Given the description of an element on the screen output the (x, y) to click on. 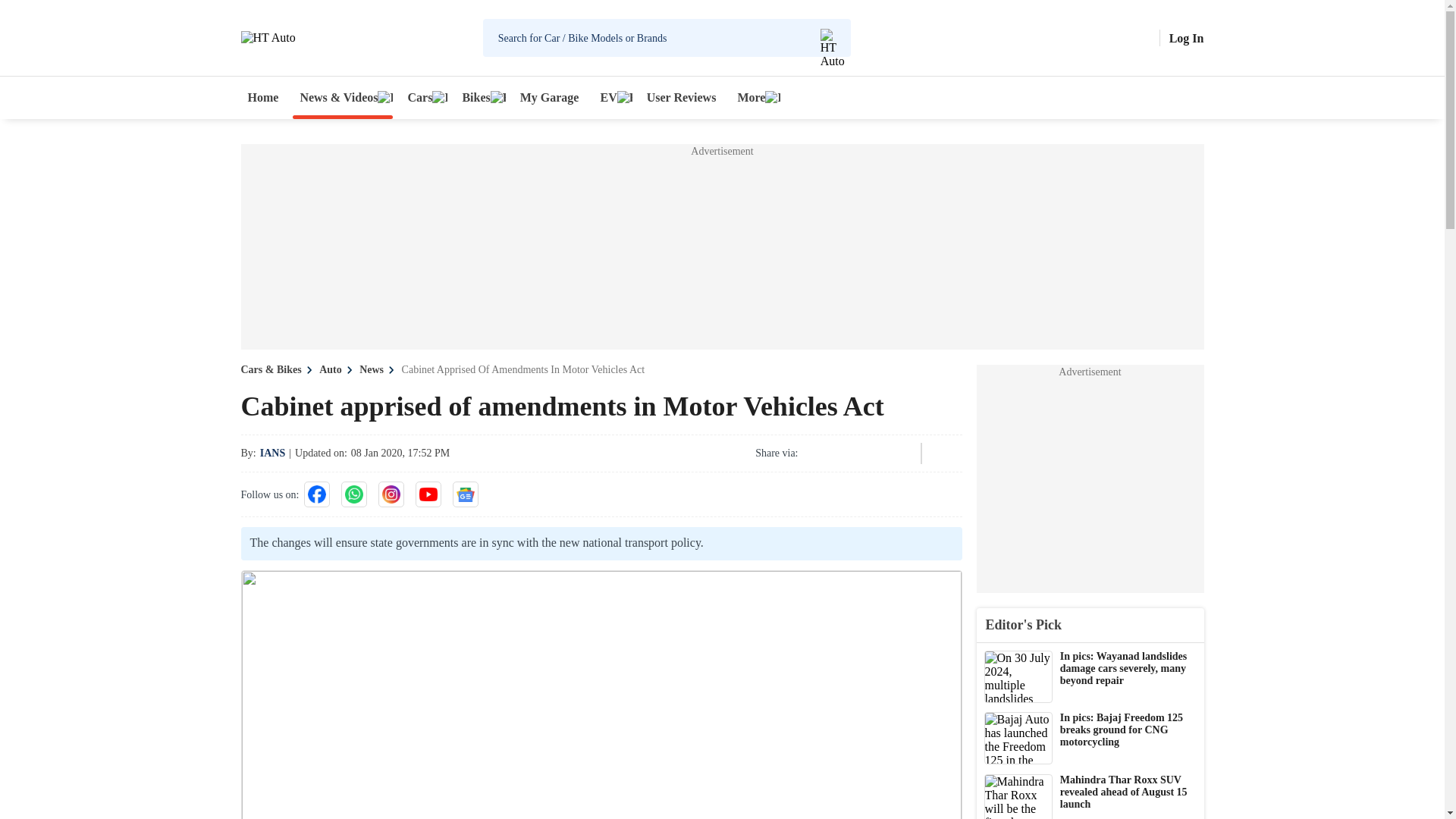
Tweet (857, 453)
Cars (423, 97)
My Garage (549, 97)
Home (263, 97)
Facebook Share (816, 453)
Log In (1186, 37)
Bikes (479, 97)
EV (611, 97)
